Given the description of an element on the screen output the (x, y) to click on. 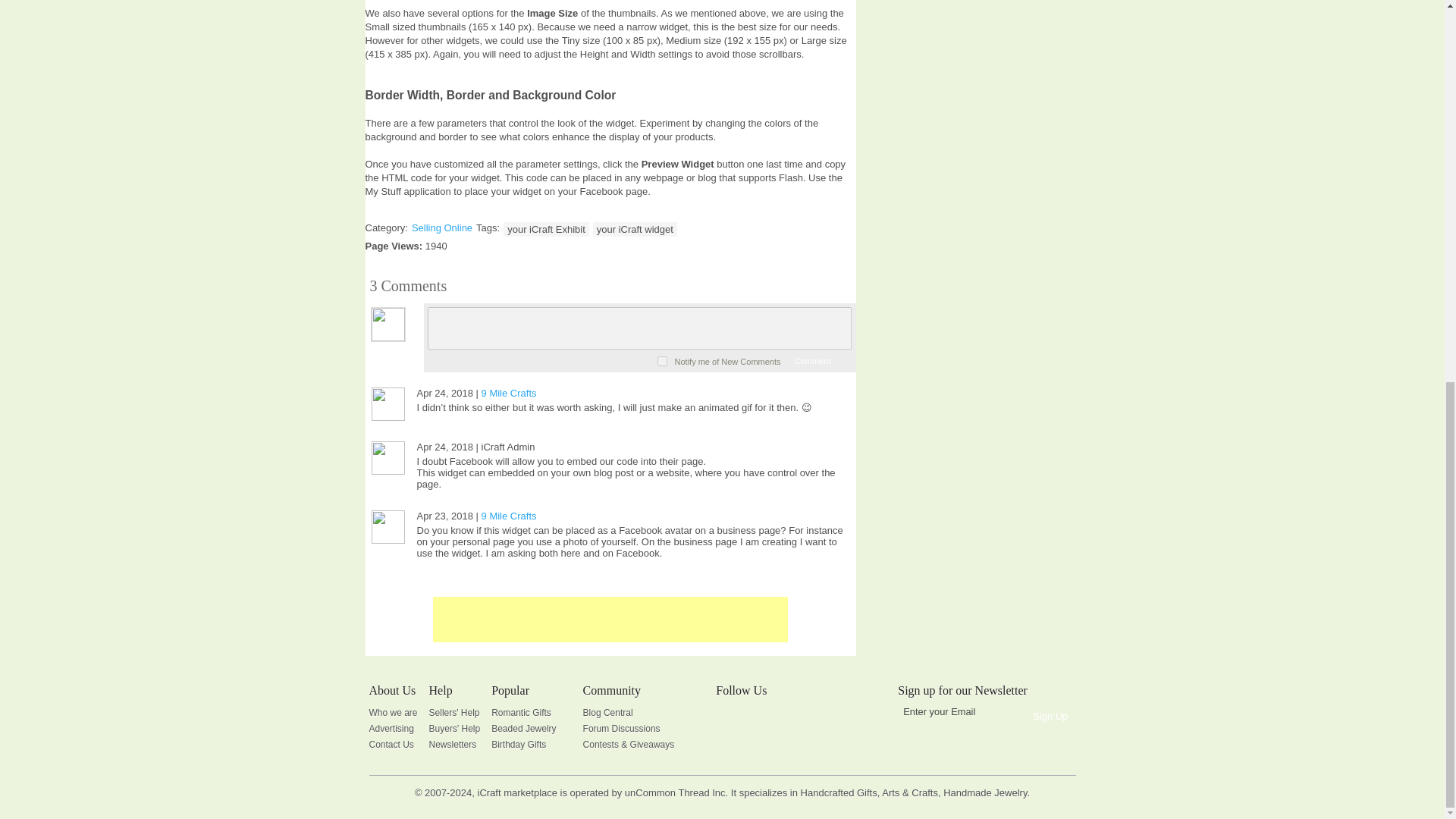
Yes (662, 361)
9 Mile Crafts (509, 392)
Sign Up (1049, 716)
Enter your Email (960, 711)
Comment (812, 360)
Selling Online (441, 227)
